Given the description of an element on the screen output the (x, y) to click on. 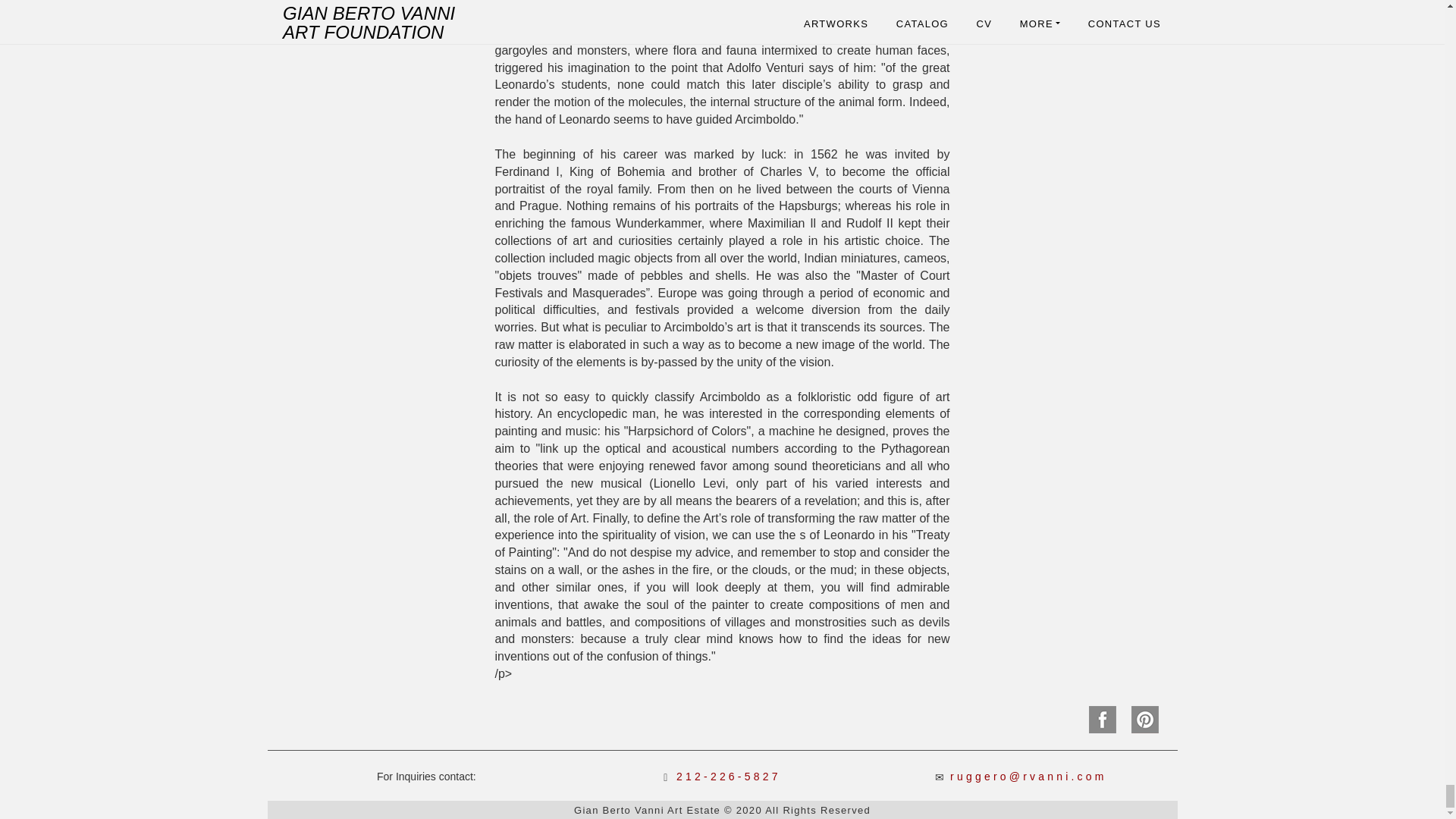
212-226-5827 (728, 776)
